Given the description of an element on the screen output the (x, y) to click on. 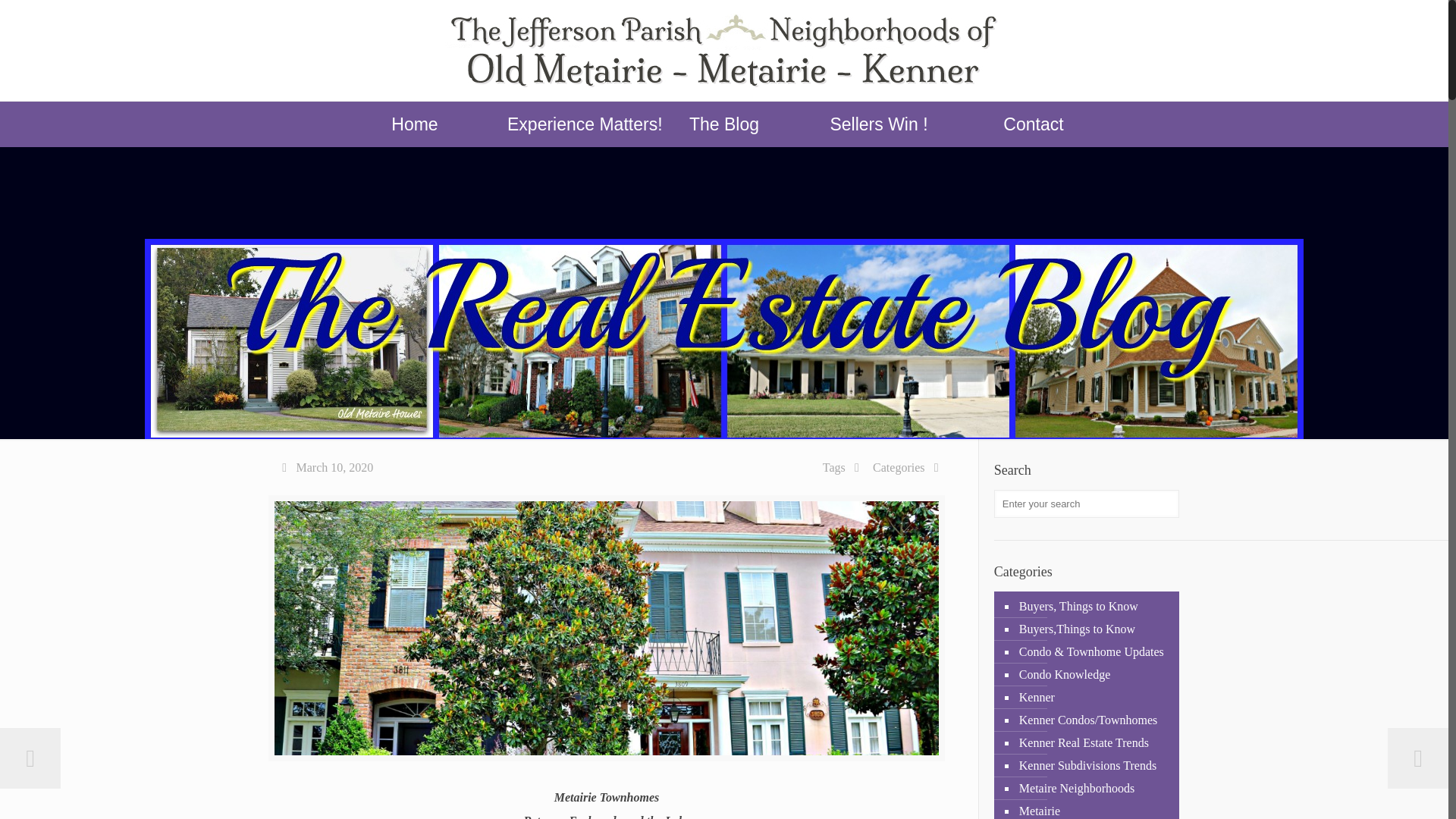
Kenner (1094, 697)
Home (414, 124)
Buyers, Things to Know (1094, 606)
Condo Knowledge (1094, 674)
Experience Matters! (569, 124)
Sellers Win ! (879, 124)
The Blog (724, 124)
Buyers,Things to Know (1094, 629)
Contact (1033, 124)
